Given the description of an element on the screen output the (x, y) to click on. 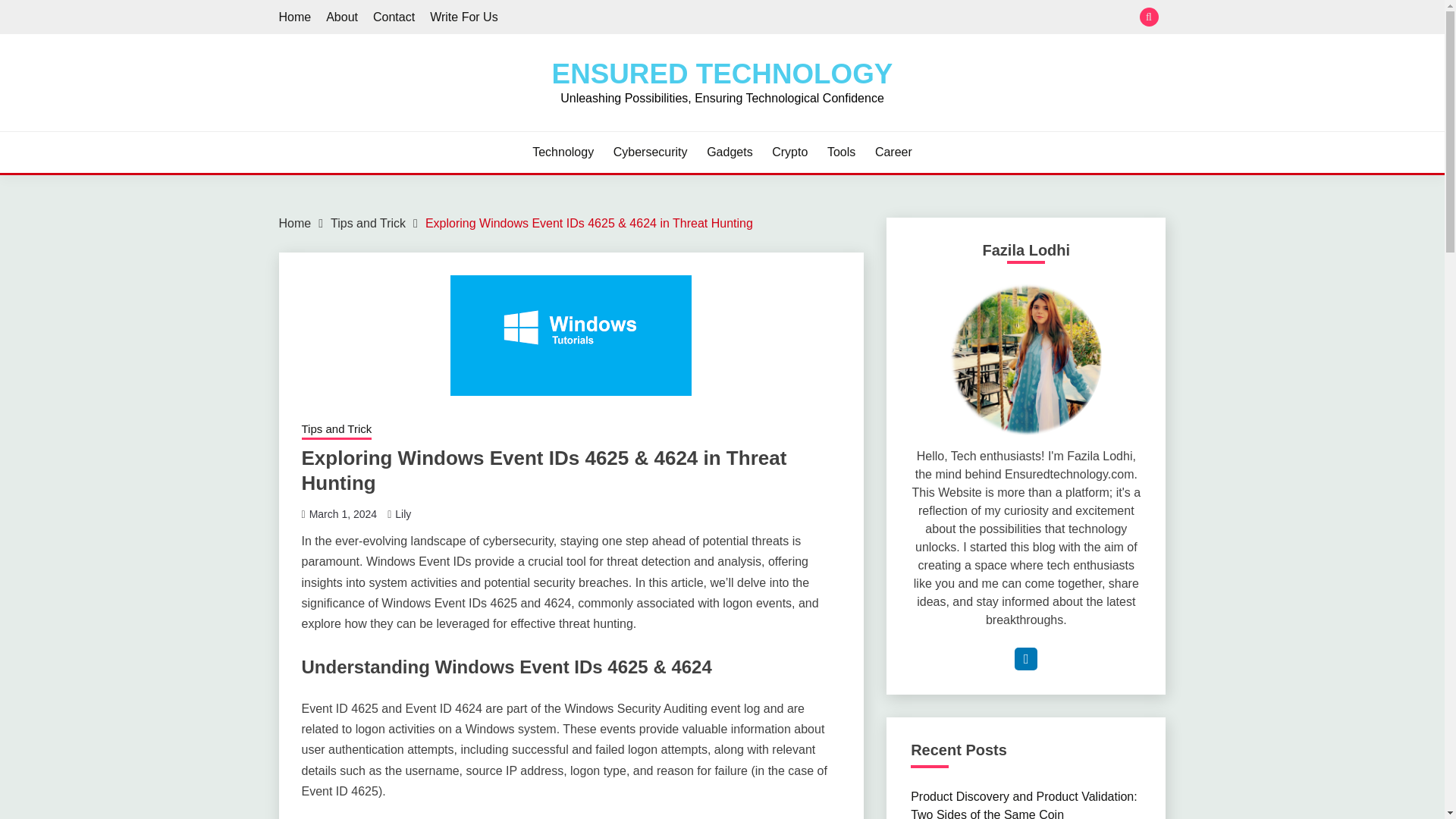
Search (832, 18)
Cybersecurity (649, 152)
Tools (841, 152)
Gadgets (729, 152)
Crypto (789, 152)
Career (893, 152)
March 1, 2024 (342, 513)
Contact (393, 16)
ENSURED TECHNOLOGY (722, 73)
Tips and Trick (368, 223)
Tips and Trick (336, 430)
Lily (402, 513)
linkedin (1025, 658)
Technology (563, 152)
About (342, 16)
